Given the description of an element on the screen output the (x, y) to click on. 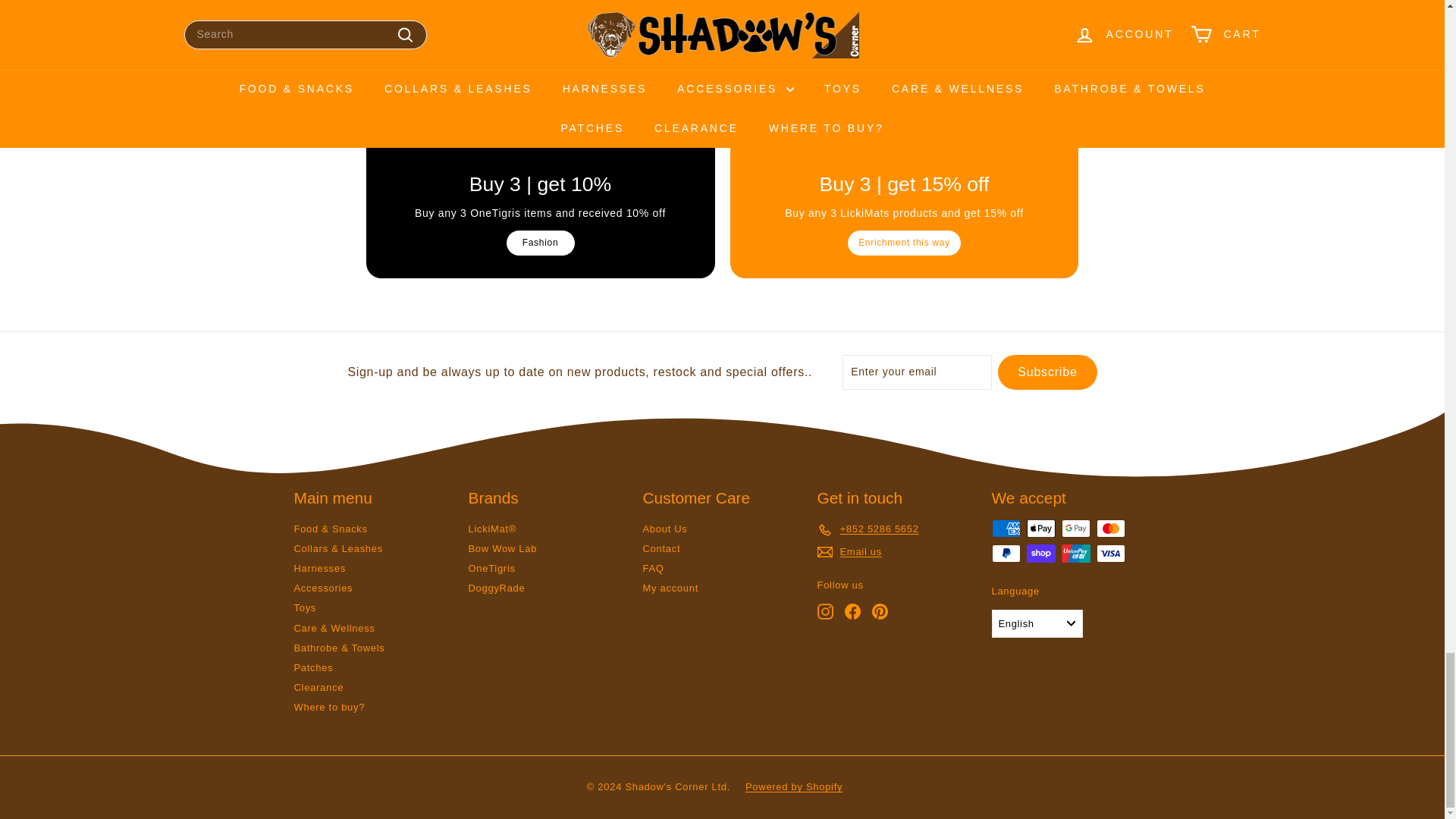
Shadow's Corner Ltd. on Instagram (824, 611)
Shadow's Corner Ltd. on Facebook (852, 611)
Shadow's Corner Ltd. on Pinterest (880, 611)
